Given the description of an element on the screen output the (x, y) to click on. 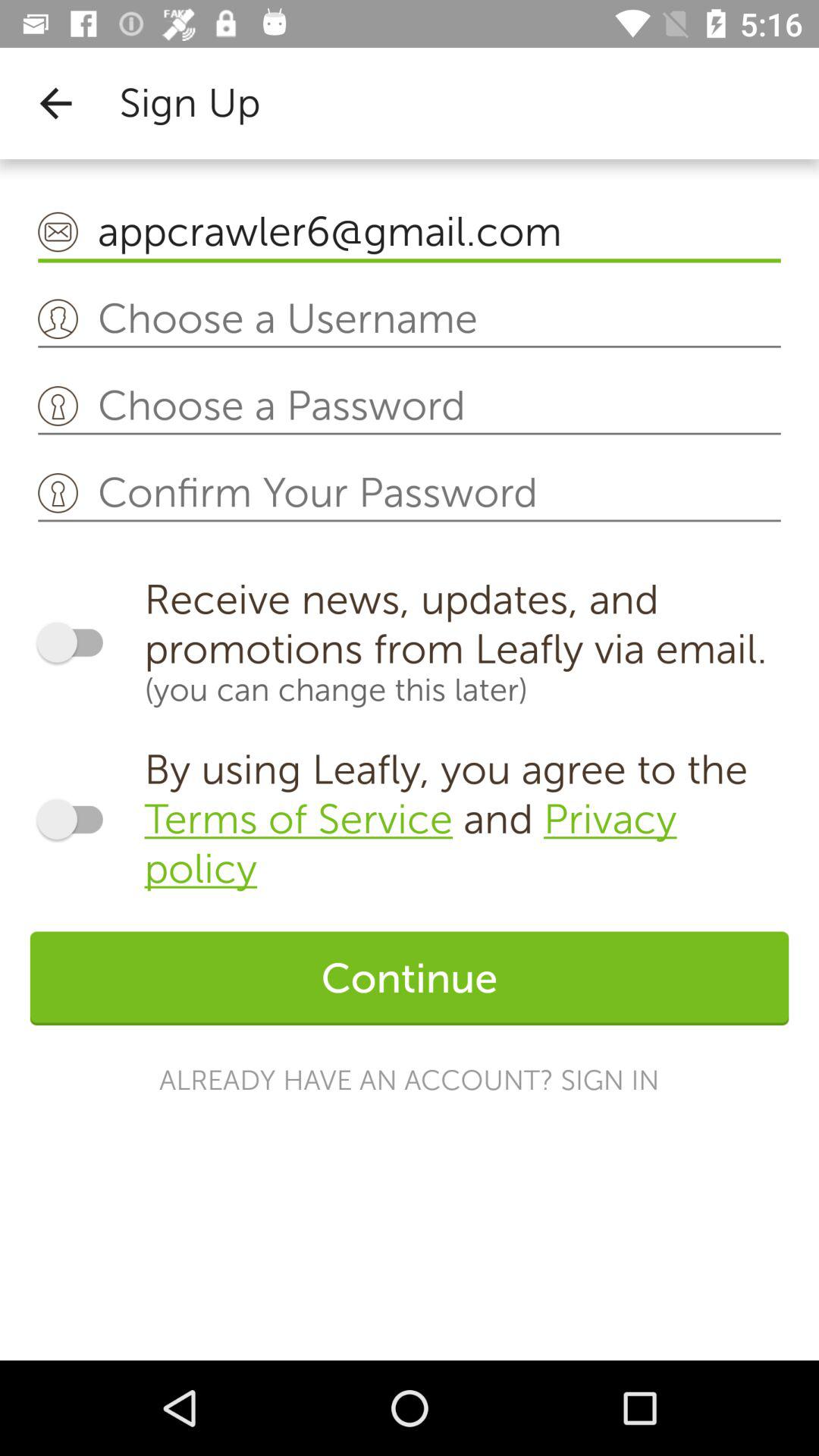
type your password again for confirmation (409, 493)
